Given the description of an element on the screen output the (x, y) to click on. 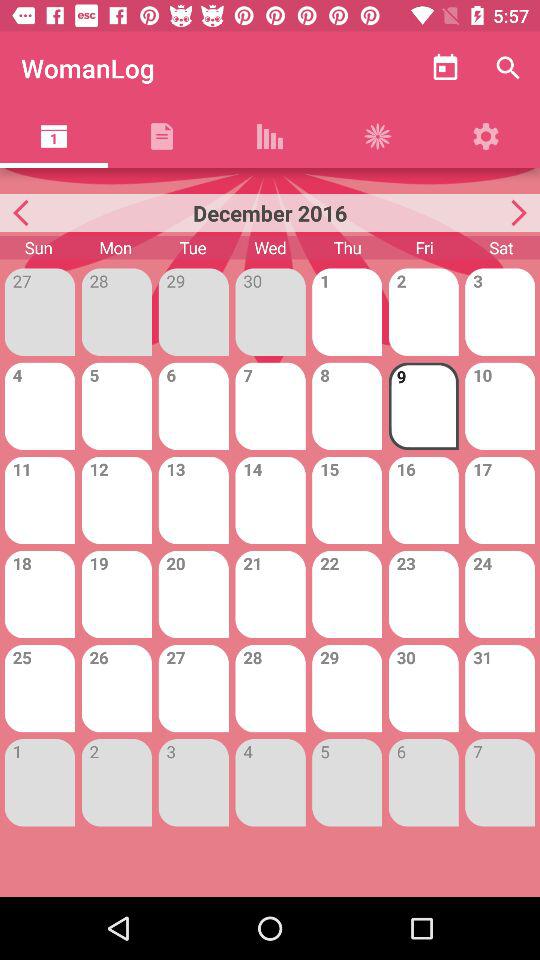
open item to the right of womanlog (444, 67)
